Given the description of an element on the screen output the (x, y) to click on. 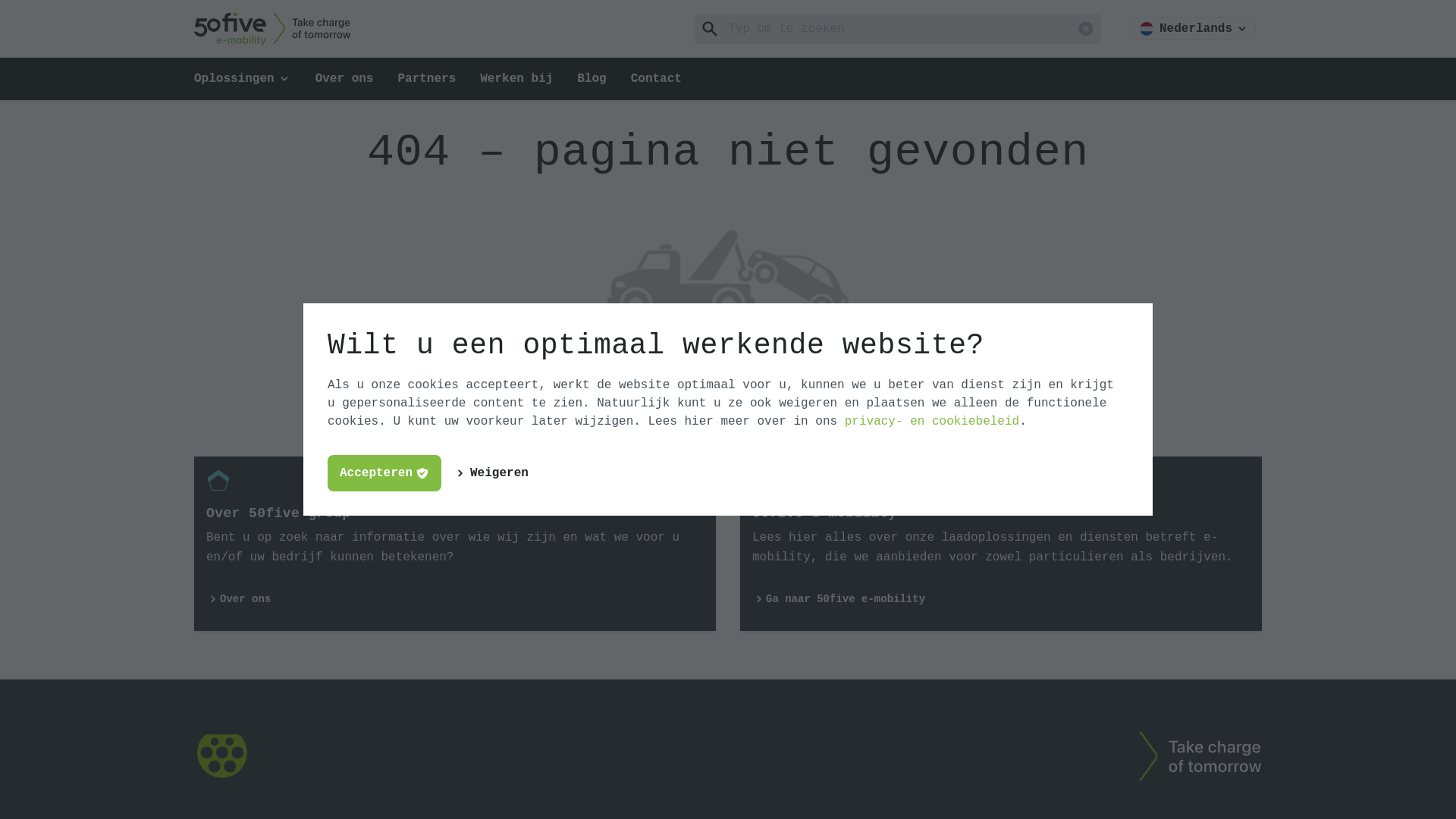
Contact Element type: text (655, 78)
privacy- en cookiebeleid Element type: text (931, 421)
Oplossingen Element type: text (242, 78)
Weigeren Element type: text (492, 473)
Blog Element type: text (591, 78)
Zoeken Element type: text (709, 28)
Over ons Element type: text (344, 78)
Nederlands Element type: text (1193, 28)
Accepteren Element type: text (384, 473)
Sluiten Element type: text (1085, 28)
Werken bij Element type: text (515, 78)
Partners Element type: text (426, 78)
